Given the description of an element on the screen output the (x, y) to click on. 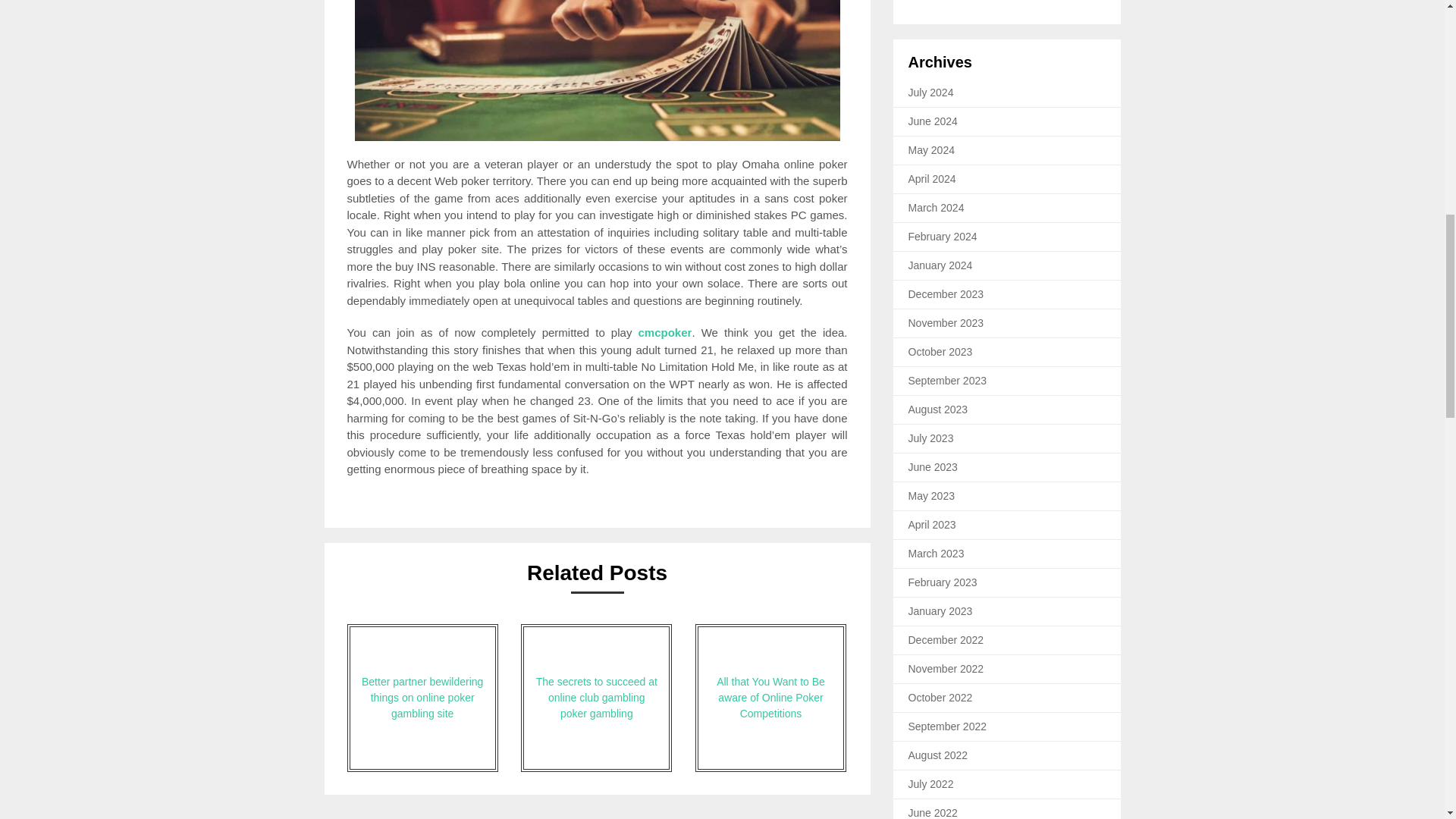
All that You Want to Be aware of Online Poker Competitions (770, 698)
October 2022 (940, 697)
July 2024 (930, 92)
January 2023 (940, 611)
All that You Want to Be aware of Online Poker Competitions (770, 698)
June 2023 (933, 467)
November 2023 (946, 322)
February 2023 (942, 582)
September 2022 (947, 726)
